Given the description of an element on the screen output the (x, y) to click on. 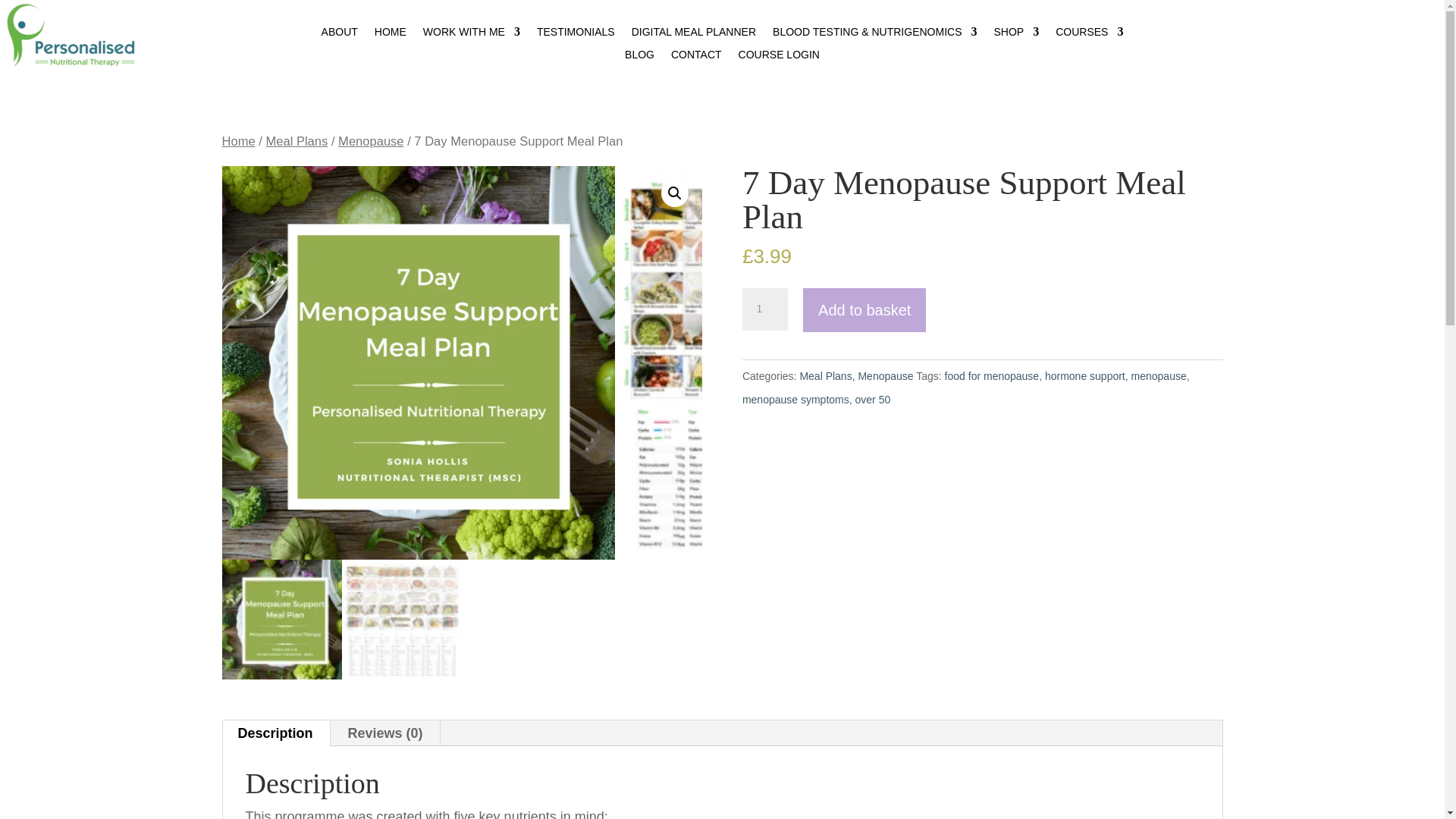
Home (237, 141)
COURSES (1088, 34)
Menopause (370, 141)
1 (764, 309)
TESTIMONIALS (575, 34)
DIGITAL MEAL PLANNER (693, 34)
SHOP (1015, 34)
Meal Plans (295, 141)
BLOG (638, 57)
ABOUT (339, 34)
COURSE LOGIN (778, 57)
CONTACT (696, 57)
HOME (390, 34)
